Given the description of an element on the screen output the (x, y) to click on. 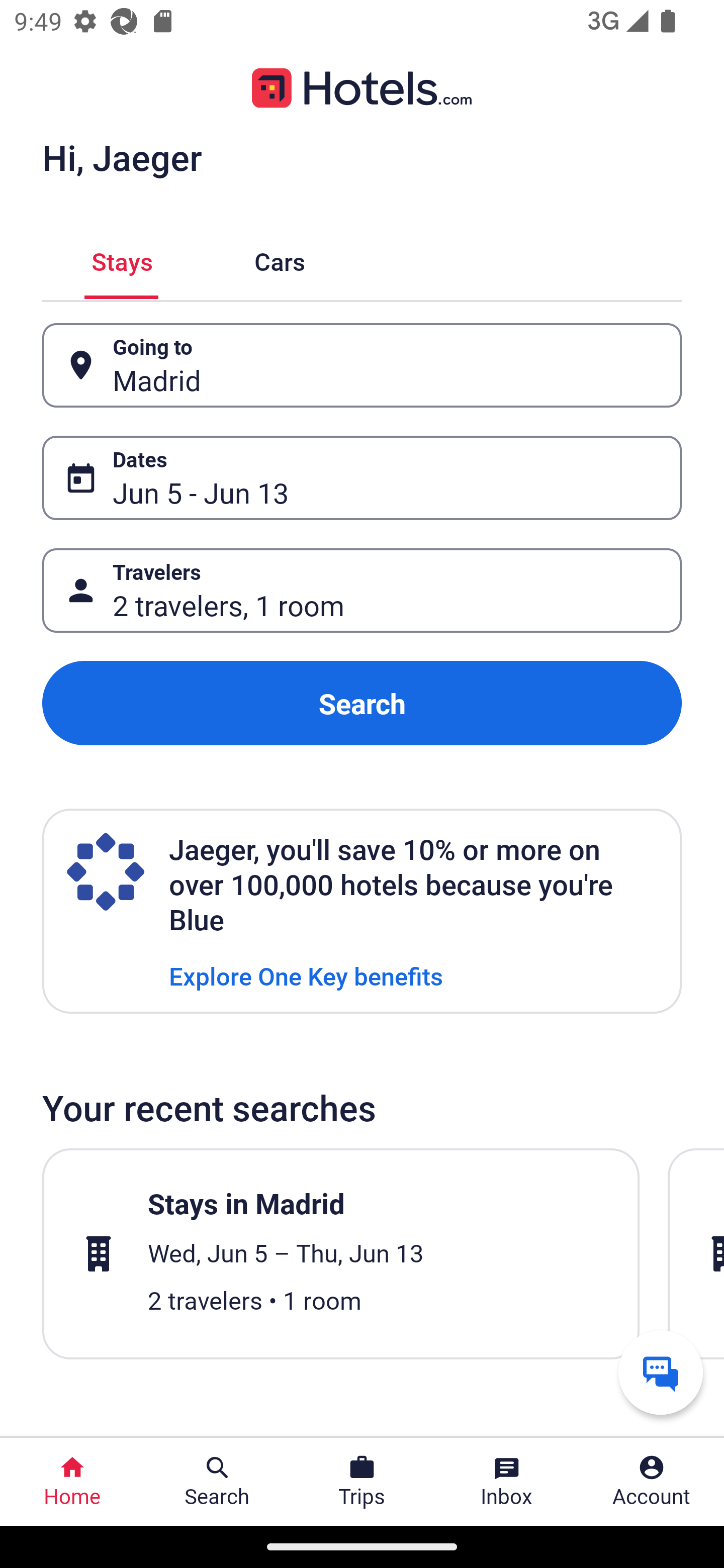
Hi, Jaeger (121, 156)
Cars (279, 259)
Going to Button Madrid (361, 365)
Dates Button Jun 5 - Jun 13 (361, 477)
Travelers Button 2 travelers, 1 room (361, 590)
Search (361, 702)
Get help from a virtual agent (660, 1371)
Search Search Button (216, 1481)
Trips Trips Button (361, 1481)
Inbox Inbox Button (506, 1481)
Account Profile. Button (651, 1481)
